Given the description of an element on the screen output the (x, y) to click on. 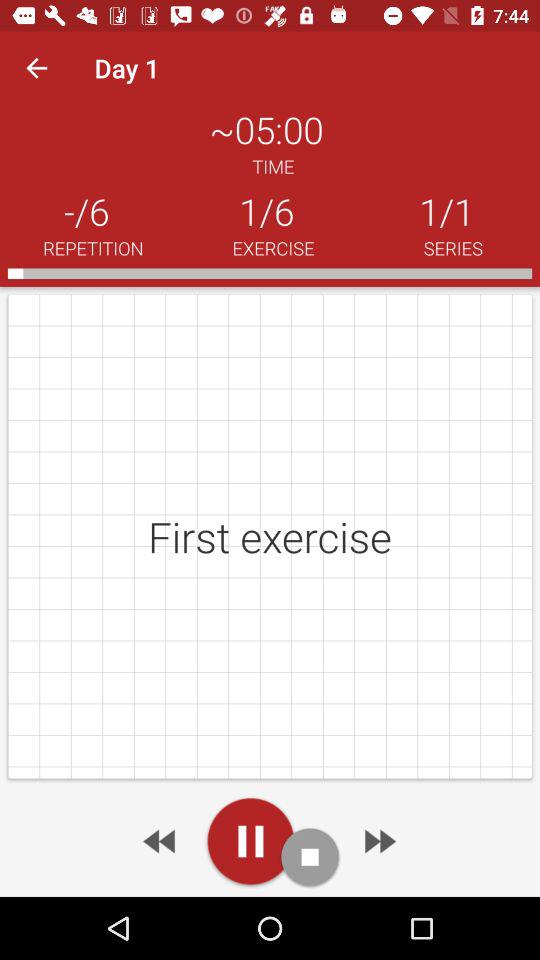
next (161, 841)
